Given the description of an element on the screen output the (x, y) to click on. 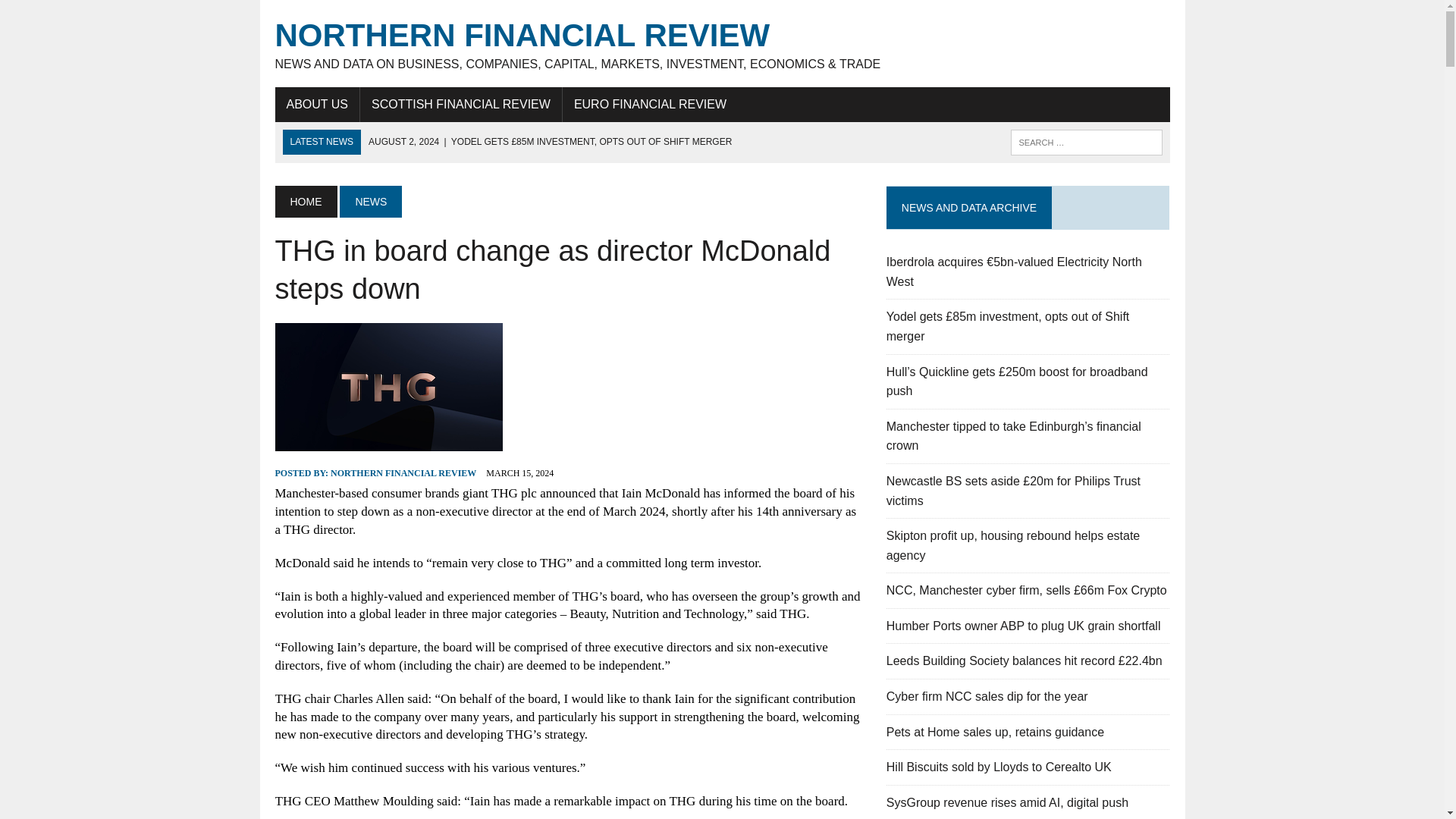
Skipton profit up, housing rebound helps estate agency (1013, 545)
Humber Ports owner ABP to plug UK grain shortfall (1023, 625)
ABOUT US (317, 104)
Cyber firm NCC sales dip for the year (986, 696)
Search (75, 14)
Northern Financial Review (722, 43)
Pets at Home sales up, retains guidance (994, 731)
HOME (305, 201)
EURO FINANCIAL REVIEW (650, 104)
NEWS (370, 201)
